Given the description of an element on the screen output the (x, y) to click on. 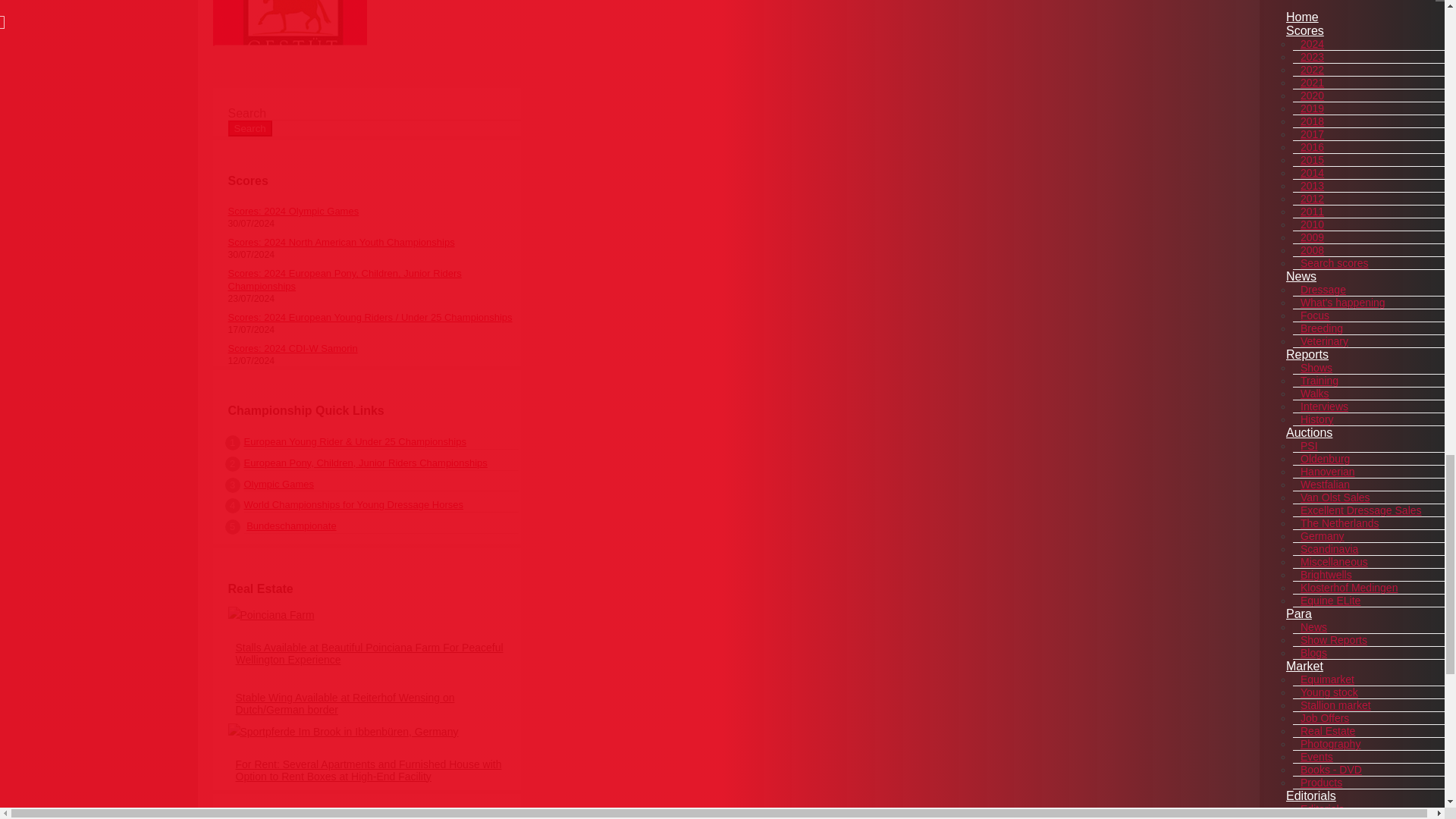
Enter the terms you wish to search for. (373, 113)
